Given the description of an element on the screen output the (x, y) to click on. 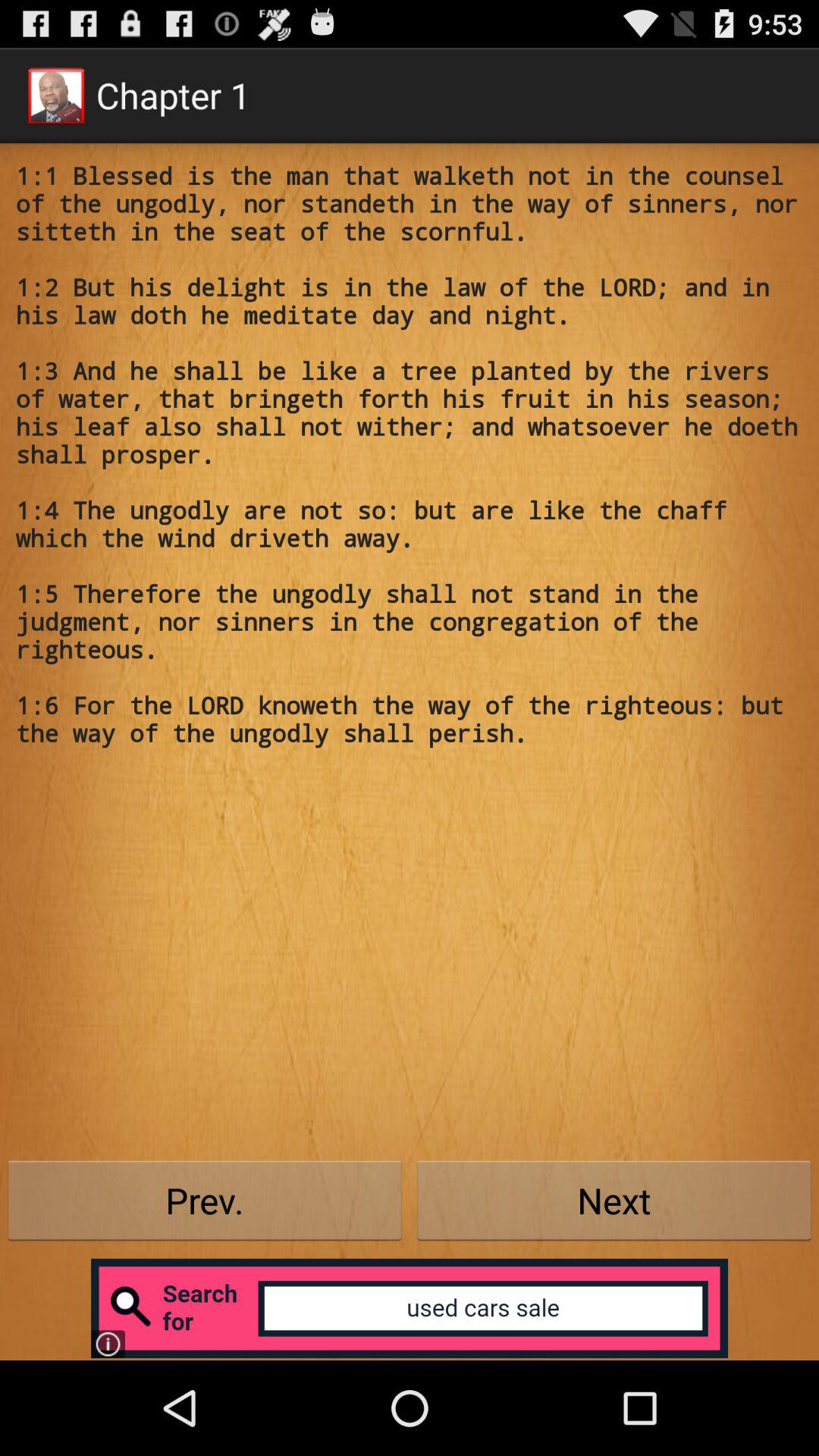
open advertisement (409, 1308)
